Given the description of an element on the screen output the (x, y) to click on. 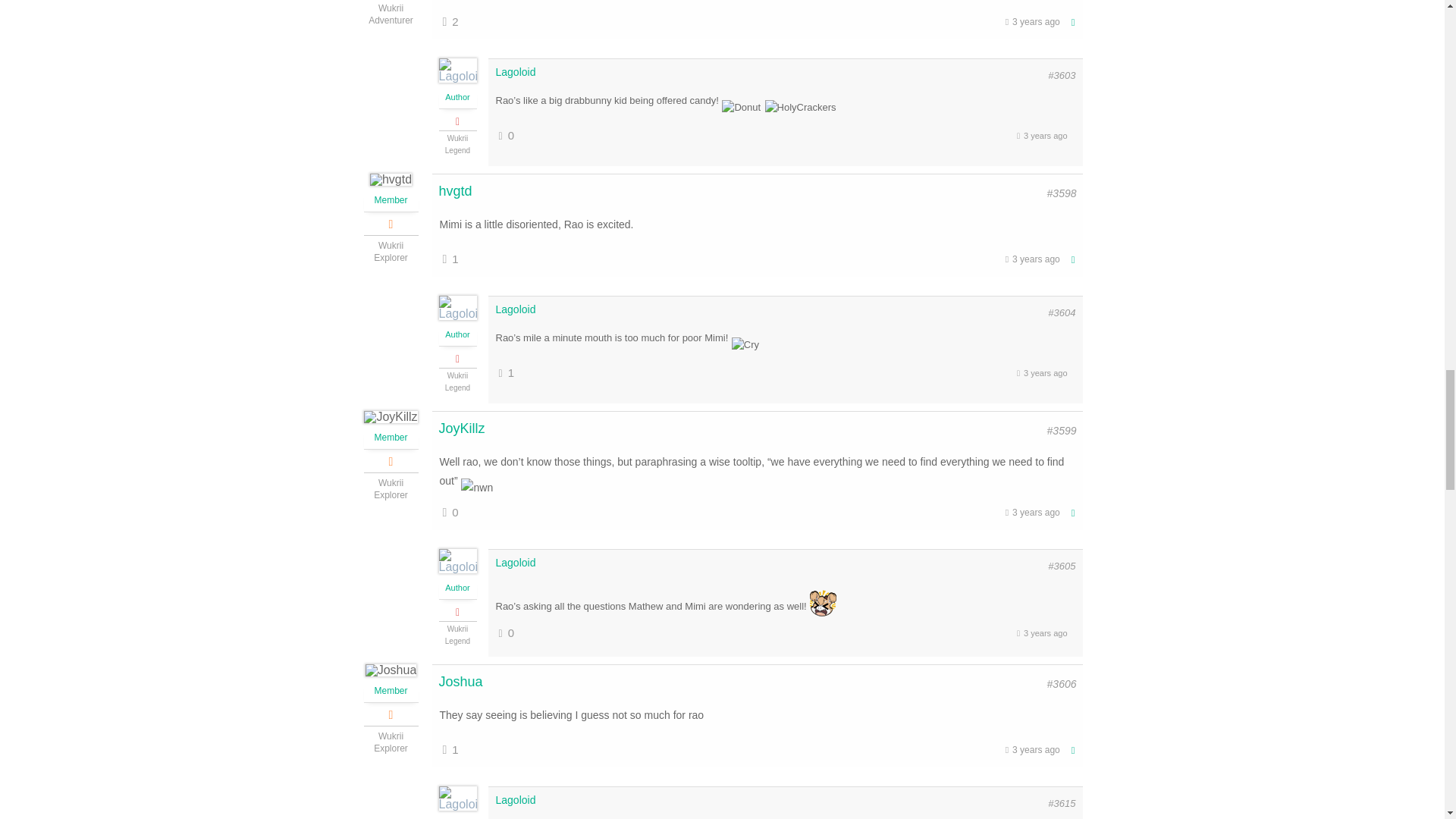
Lagoloid (515, 309)
Lagoloid (515, 562)
Lagoloid (515, 71)
Lagoloid (515, 799)
